Given the description of an element on the screen output the (x, y) to click on. 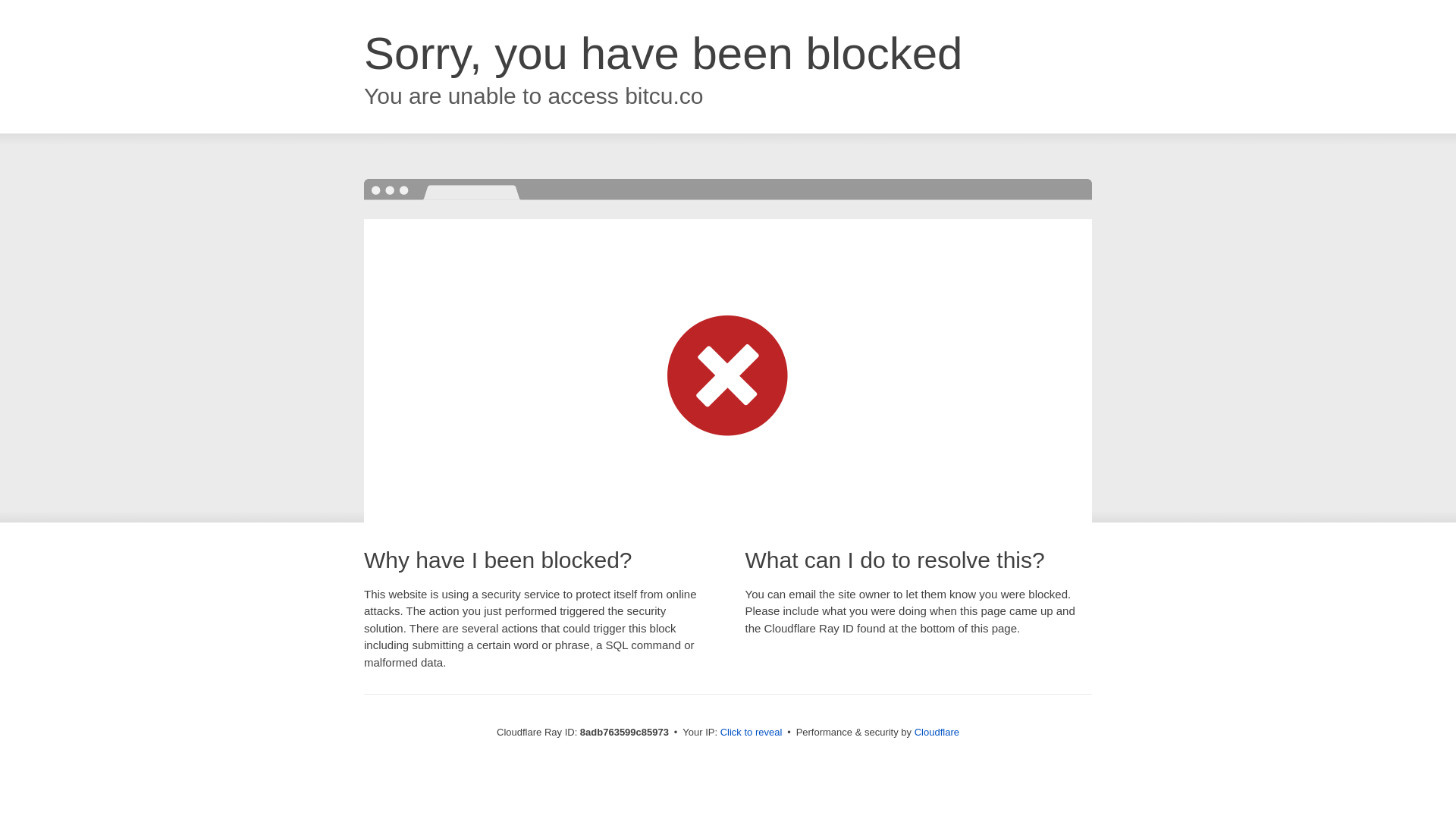
Click to reveal (751, 732)
Cloudflare (936, 731)
